Given the description of an element on the screen output the (x, y) to click on. 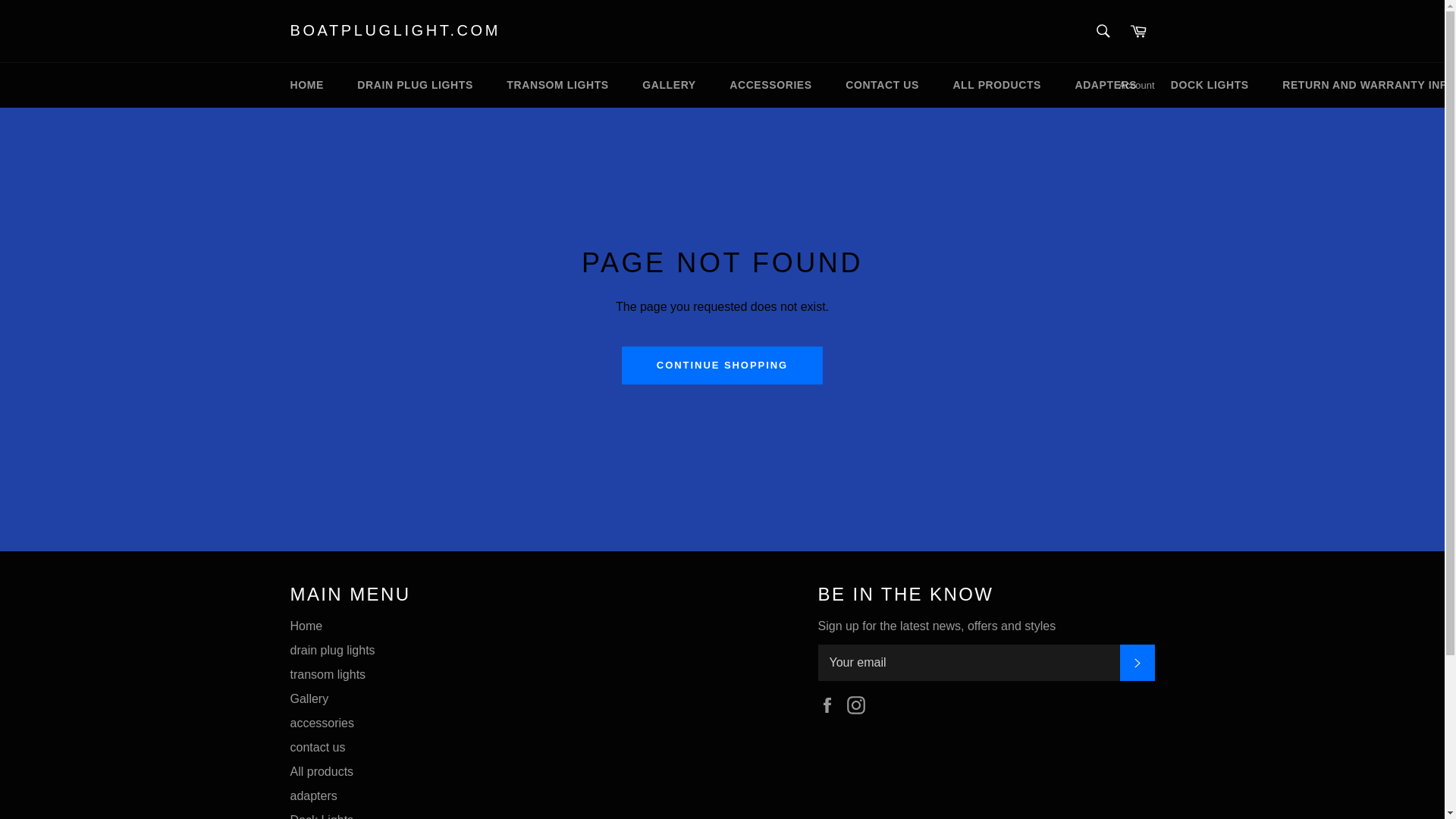
GALLERY (669, 85)
DRAIN PLUG LIGHTS (414, 85)
HOME (306, 85)
ALL PRODUCTS (997, 85)
DOCK LIGHTS (1209, 85)
Cart (1138, 30)
CONTACT US (881, 85)
TRANSOM LIGHTS (557, 85)
BOATPLUGLIGHT.COM (394, 30)
Account (1136, 85)
